Given the description of an element on the screen output the (x, y) to click on. 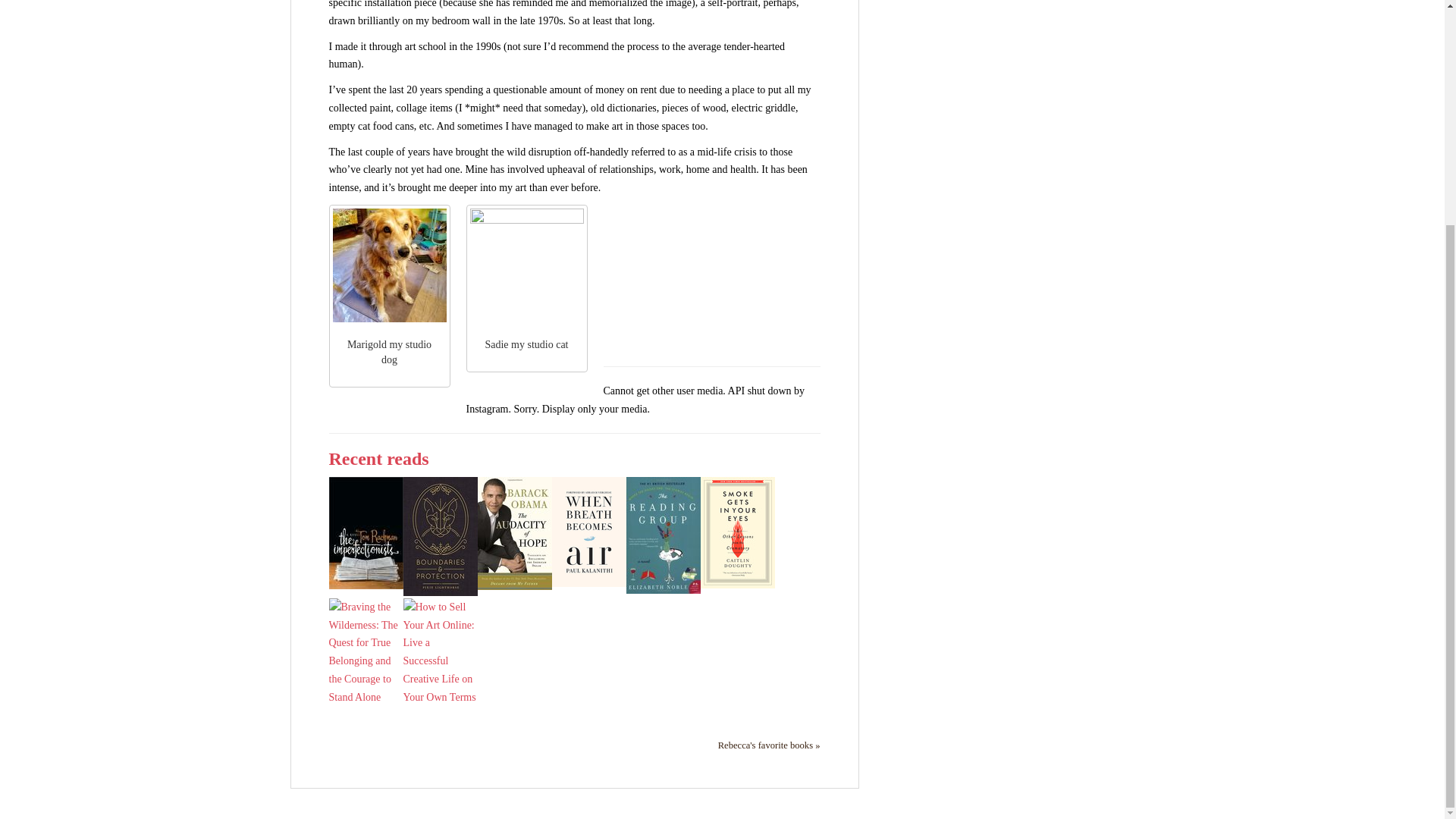
When Breath Becomes Air (588, 530)
The Reading Group (663, 533)
Recent reads (379, 458)
The Imperfectionists (366, 531)
